Given the description of an element on the screen output the (x, y) to click on. 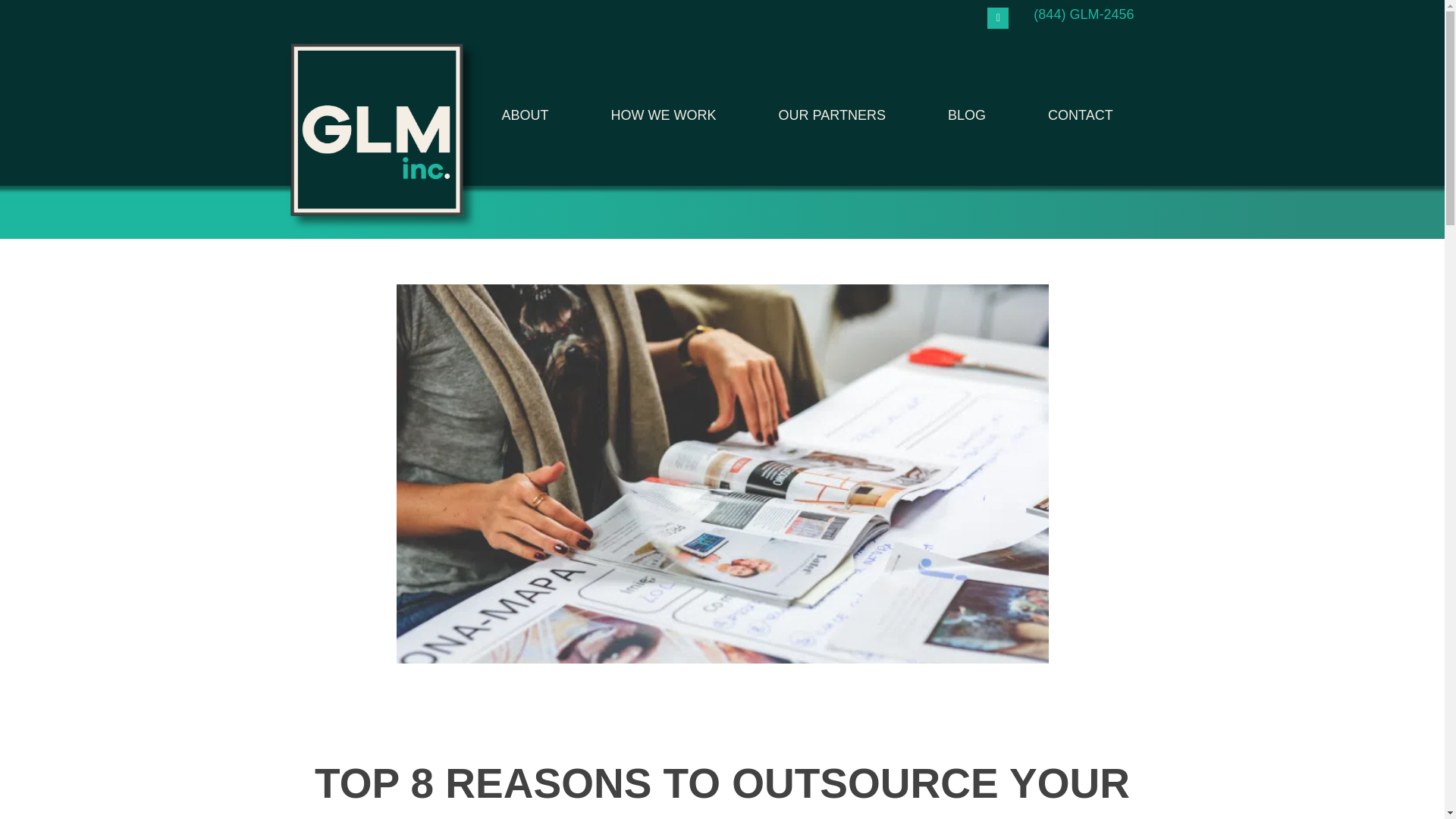
HOW WE WORK (663, 115)
OUR PARTNERS (832, 115)
CONTACT (1080, 115)
ABOUT (524, 115)
BLOG (966, 115)
